Given the description of an element on the screen output the (x, y) to click on. 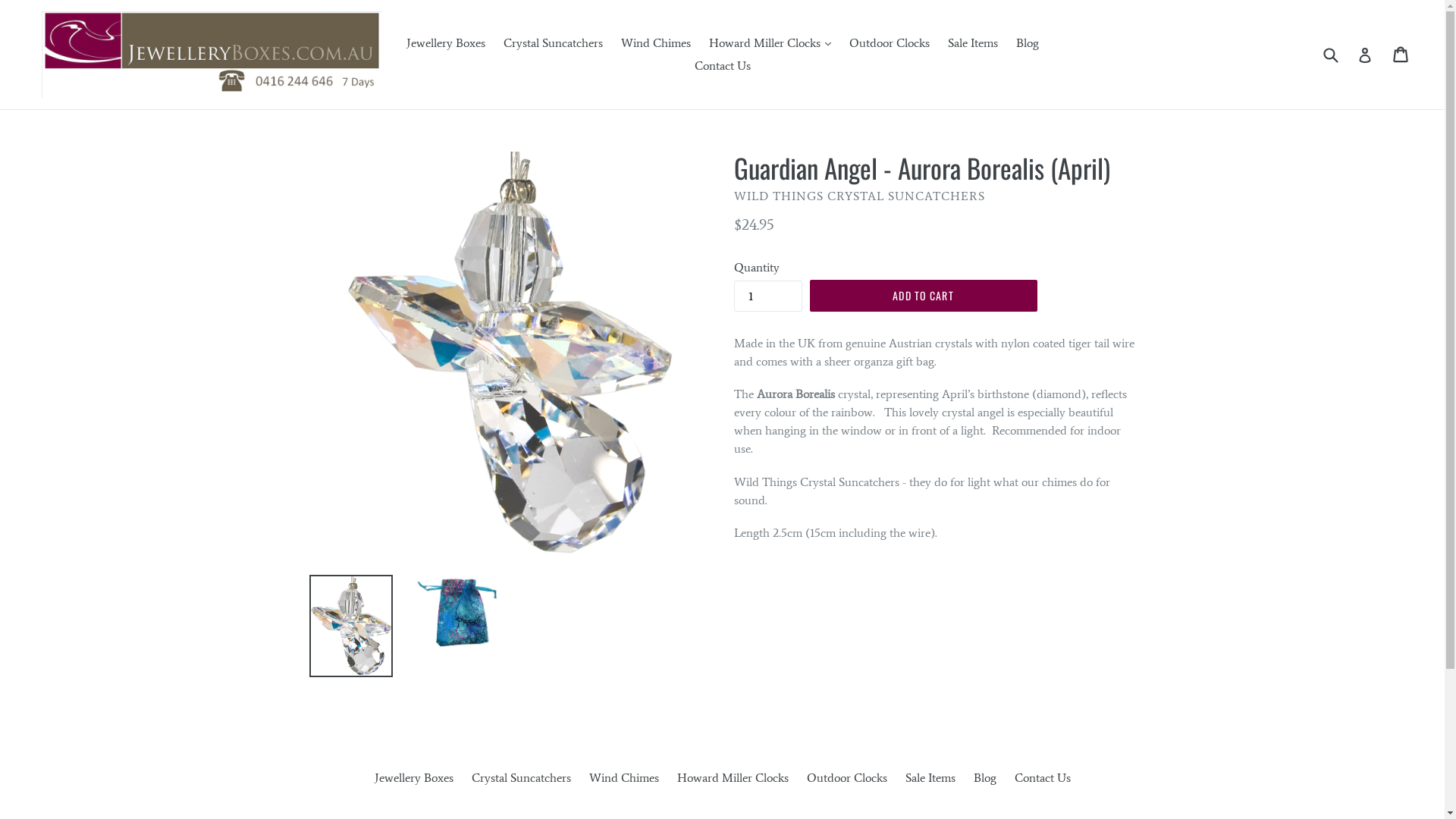
Sale Items Element type: text (972, 42)
Crystal Suncatchers Element type: text (521, 777)
Wind Chimes Element type: text (654, 42)
Outdoor Clocks Element type: text (889, 42)
Jewellery Boxes Element type: text (445, 42)
Jewellery Boxes Element type: text (413, 777)
Outdoor Clocks Element type: text (846, 777)
Submit Element type: text (1329, 53)
Contact Us Element type: text (1042, 777)
Log in Element type: text (1364, 54)
Cart
Cart Element type: text (1401, 54)
Wind Chimes Element type: text (623, 777)
Howard Miller Clocks Element type: text (731, 777)
Contact Us Element type: text (722, 65)
Crystal Suncatchers Element type: text (552, 42)
Blog Element type: text (1027, 42)
Blog Element type: text (984, 777)
ADD TO CART Element type: text (923, 295)
Sale Items Element type: text (930, 777)
